Given the description of an element on the screen output the (x, y) to click on. 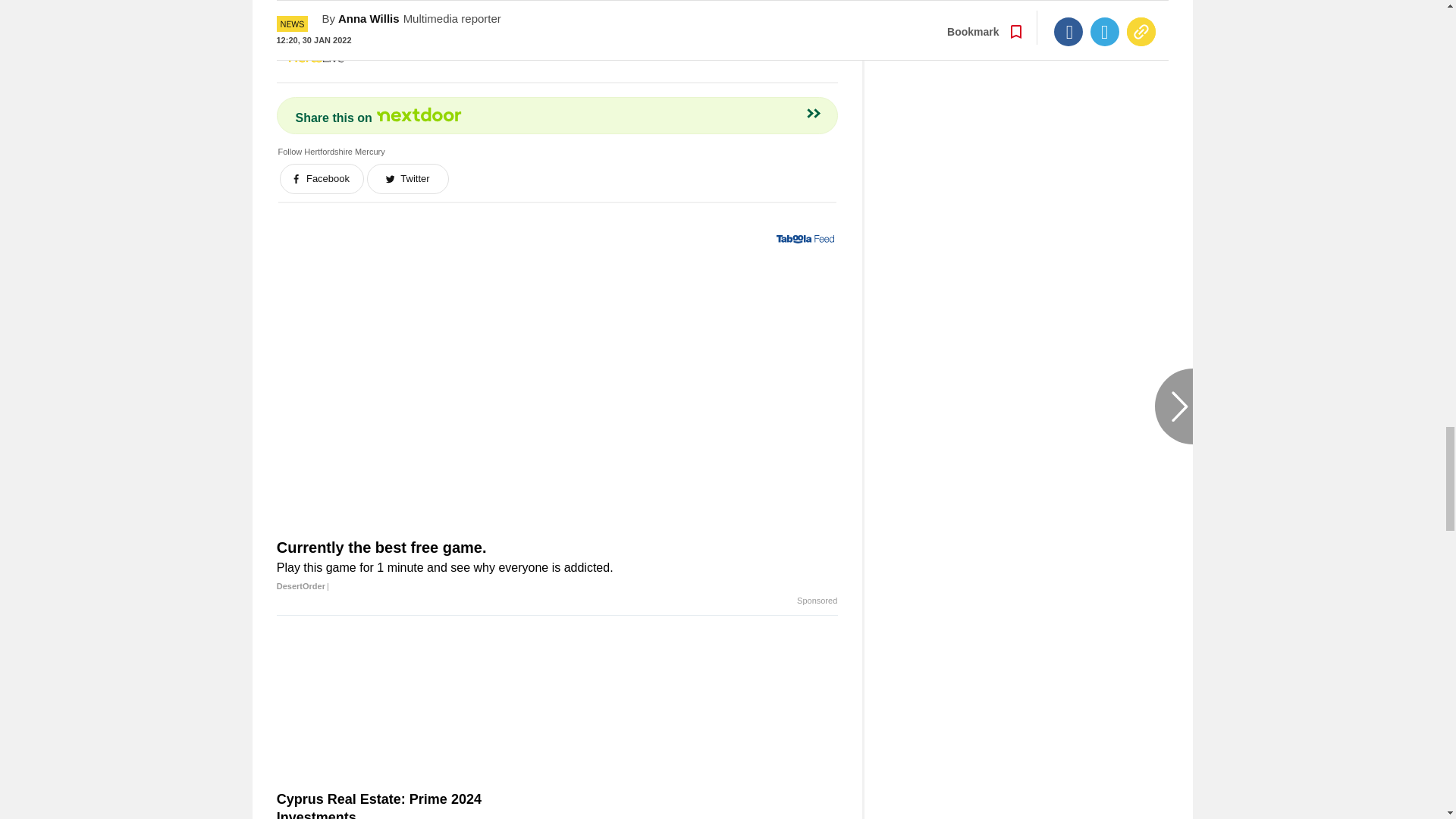
Cyprus Real Estate: Prime 2024 Investments (413, 804)
Cyprus Real Estate: Prime 2024 Investments (413, 708)
